Given the description of an element on the screen output the (x, y) to click on. 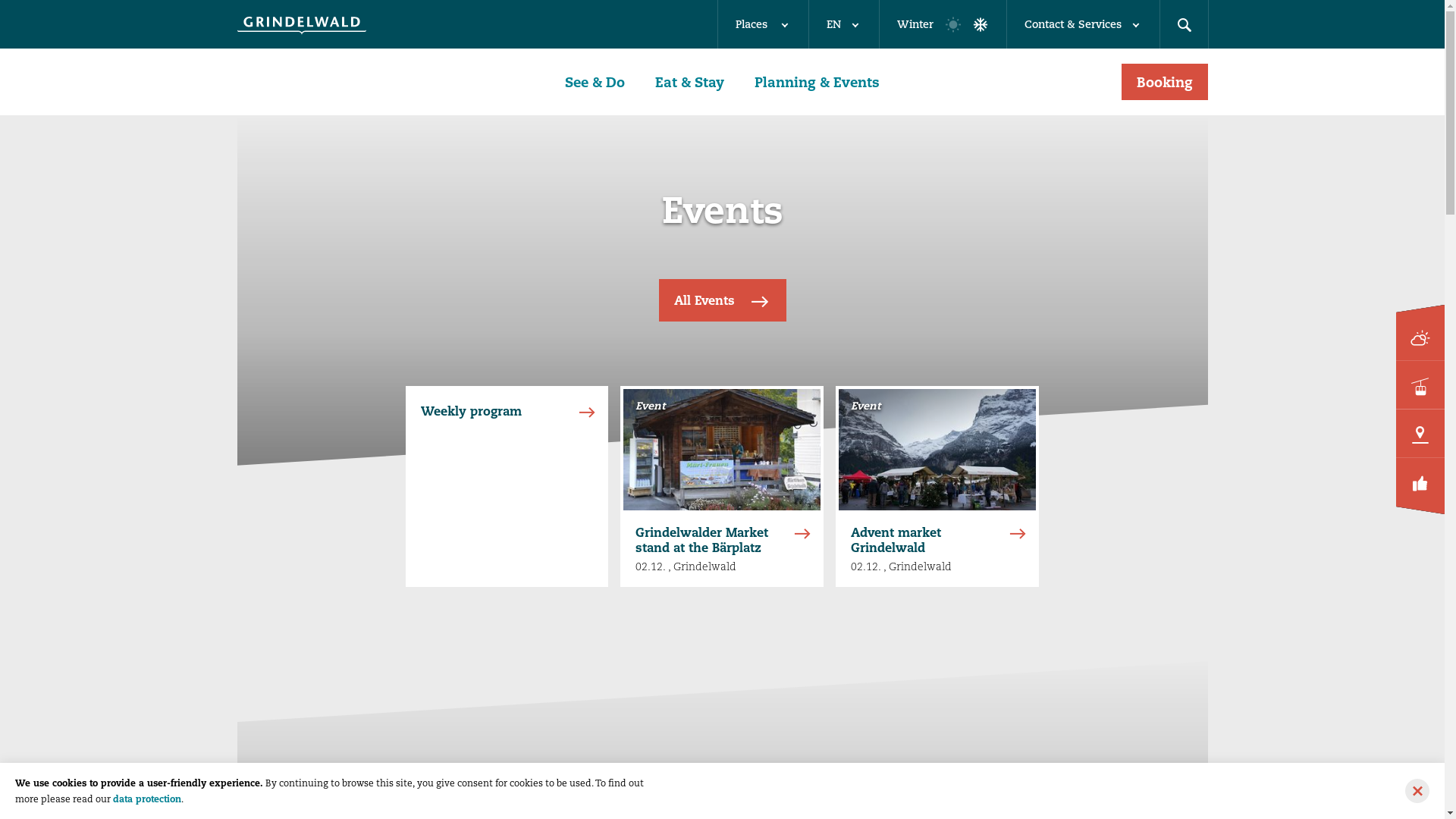
Booking Element type: text (1163, 81)
Places Element type: text (762, 24)
Planning & Events Element type: text (816, 81)
  Weekly program Element type: text (506, 485)
See & Do Element type: text (594, 81)
data protection Element type: text (146, 798)
Event
Advent market Grindelwald
02.12. , Grindelwald Element type: text (936, 485)
Eat & Stay Element type: text (689, 81)
Contact & Services Element type: text (1081, 24)
EN Element type: text (843, 24)
All Events Element type: text (721, 300)
